Given the description of an element on the screen output the (x, y) to click on. 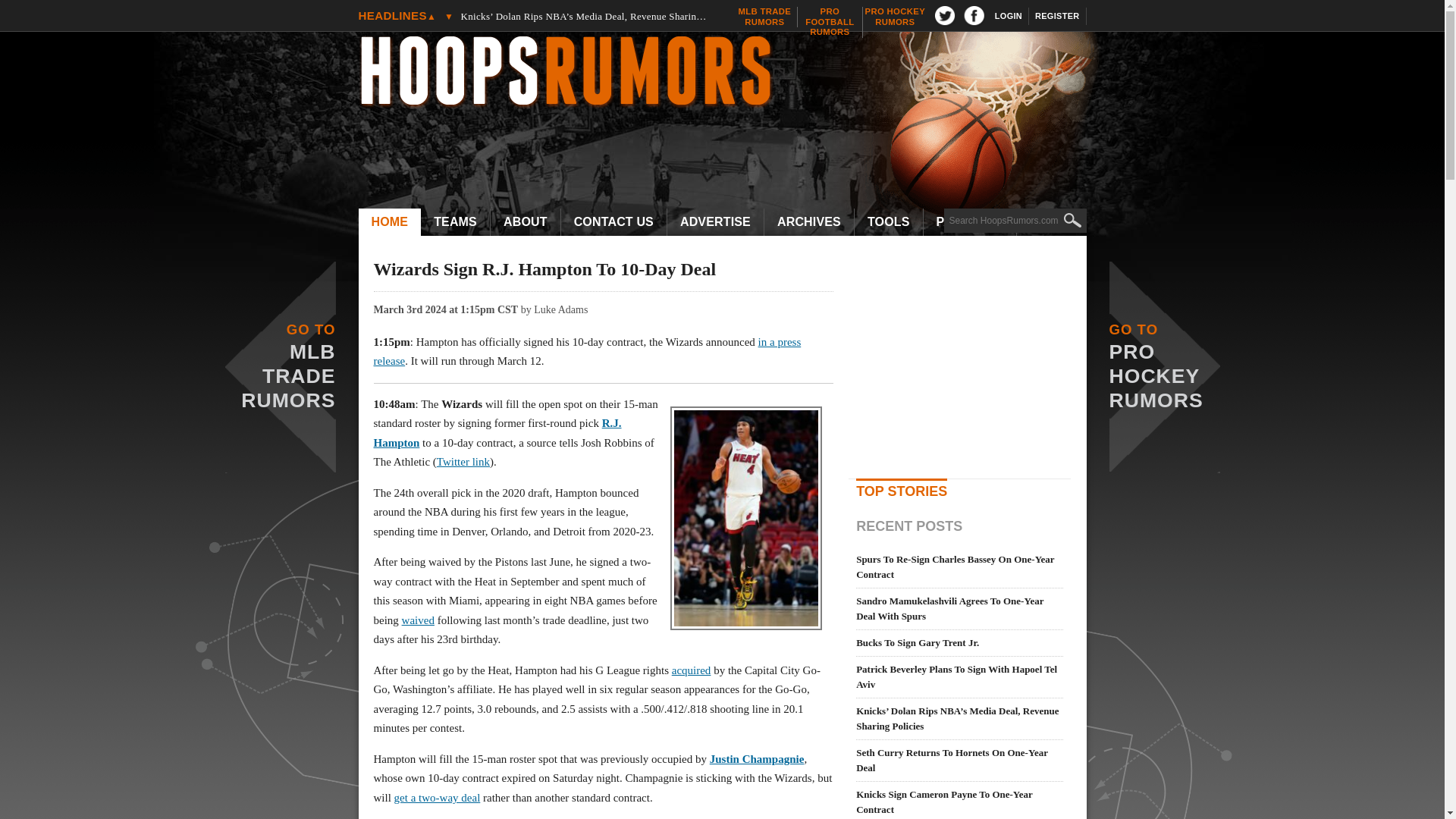
REGISTER (1057, 16)
Hoops Rumors (729, 72)
TEAMS (455, 221)
Search for: (1014, 220)
teams (829, 21)
Patrick Beverley Plans To Sign With Hapoel Tel Aviv (895, 16)
Search (455, 221)
LOGIN (585, 3)
HOME (764, 16)
